Given the description of an element on the screen output the (x, y) to click on. 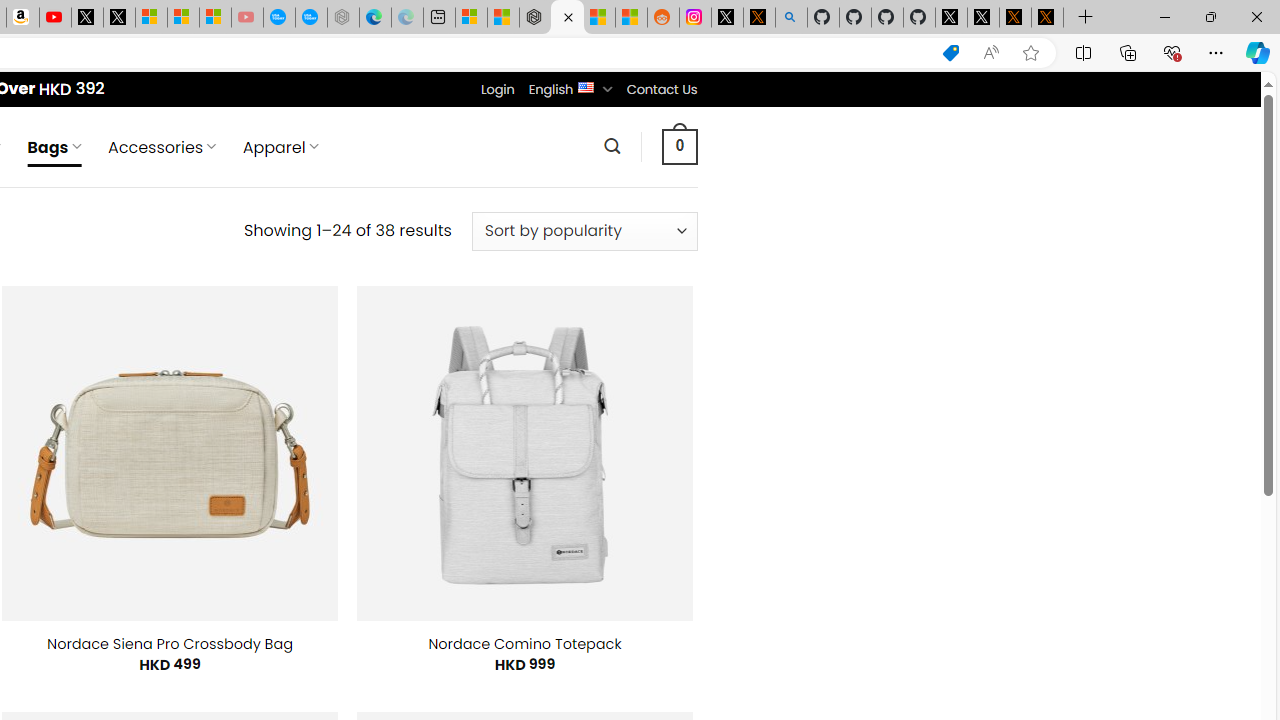
Opinion: Op-Ed and Commentary - USA TODAY (279, 17)
Nordace Comino Totepack (524, 643)
Day 1: Arriving in Yemen (surreal to be here) - YouTube (54, 17)
github - Search (791, 17)
English (586, 86)
This site has coupons! Shopping in Microsoft Edge (950, 53)
Nordace Siena Pro Crossbody Bag (170, 643)
